Given the description of an element on the screen output the (x, y) to click on. 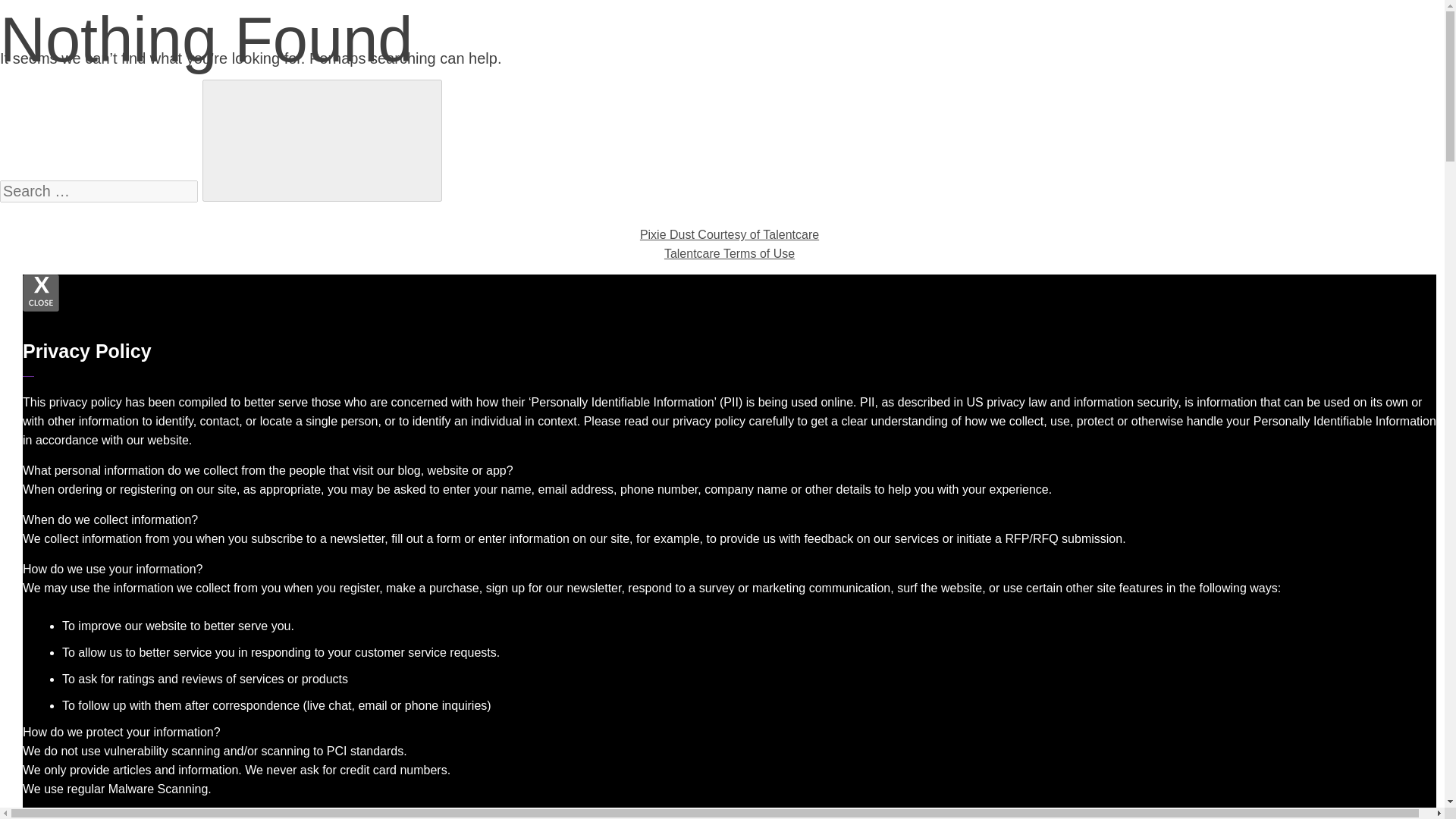
Pixie Dust Courtesy of Talentcare (729, 234)
Search (322, 140)
Talentcare Terms of Use (728, 253)
